Given the description of an element on the screen output the (x, y) to click on. 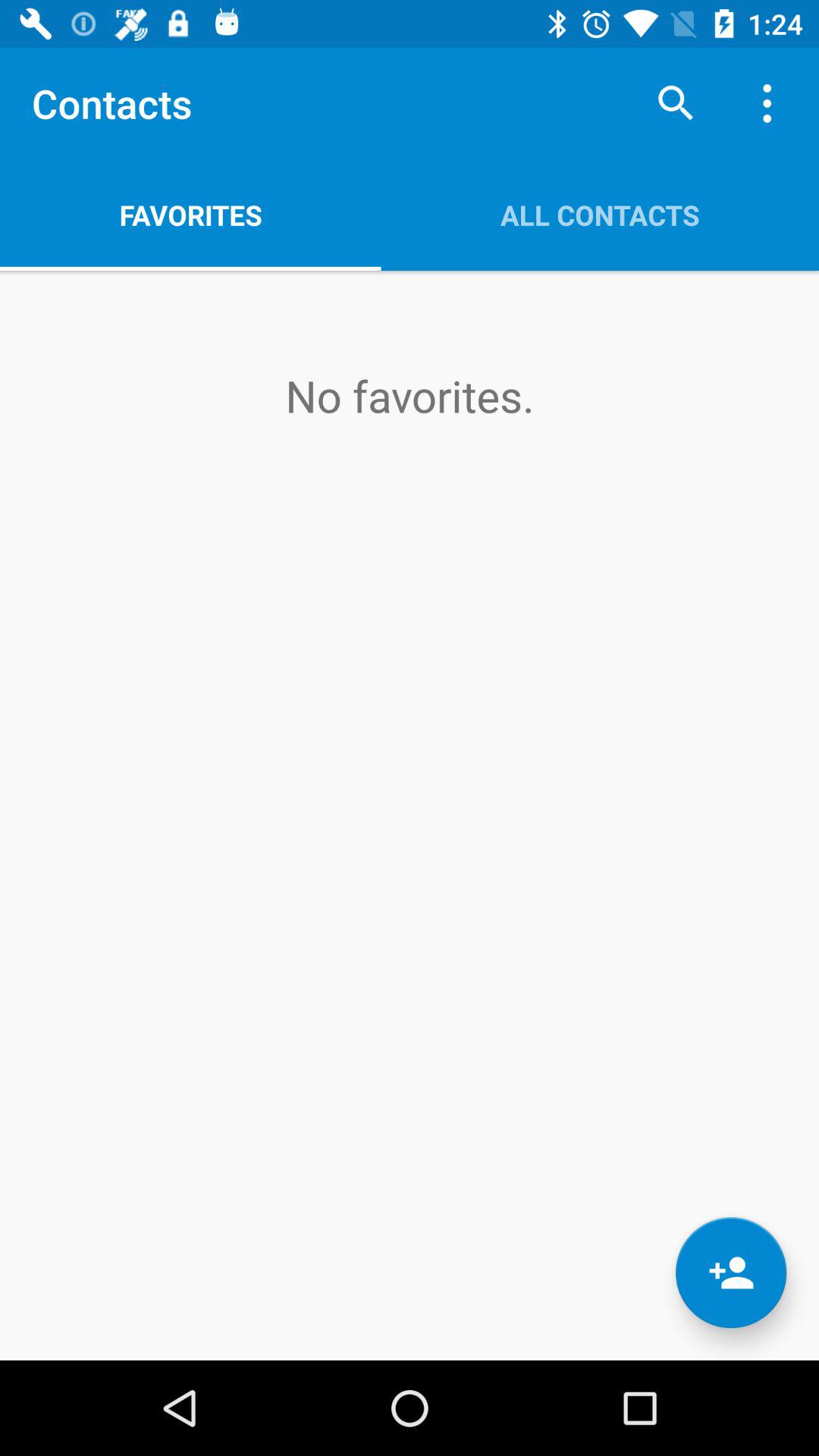
tap item next to favorites item (675, 103)
